Given the description of an element on the screen output the (x, y) to click on. 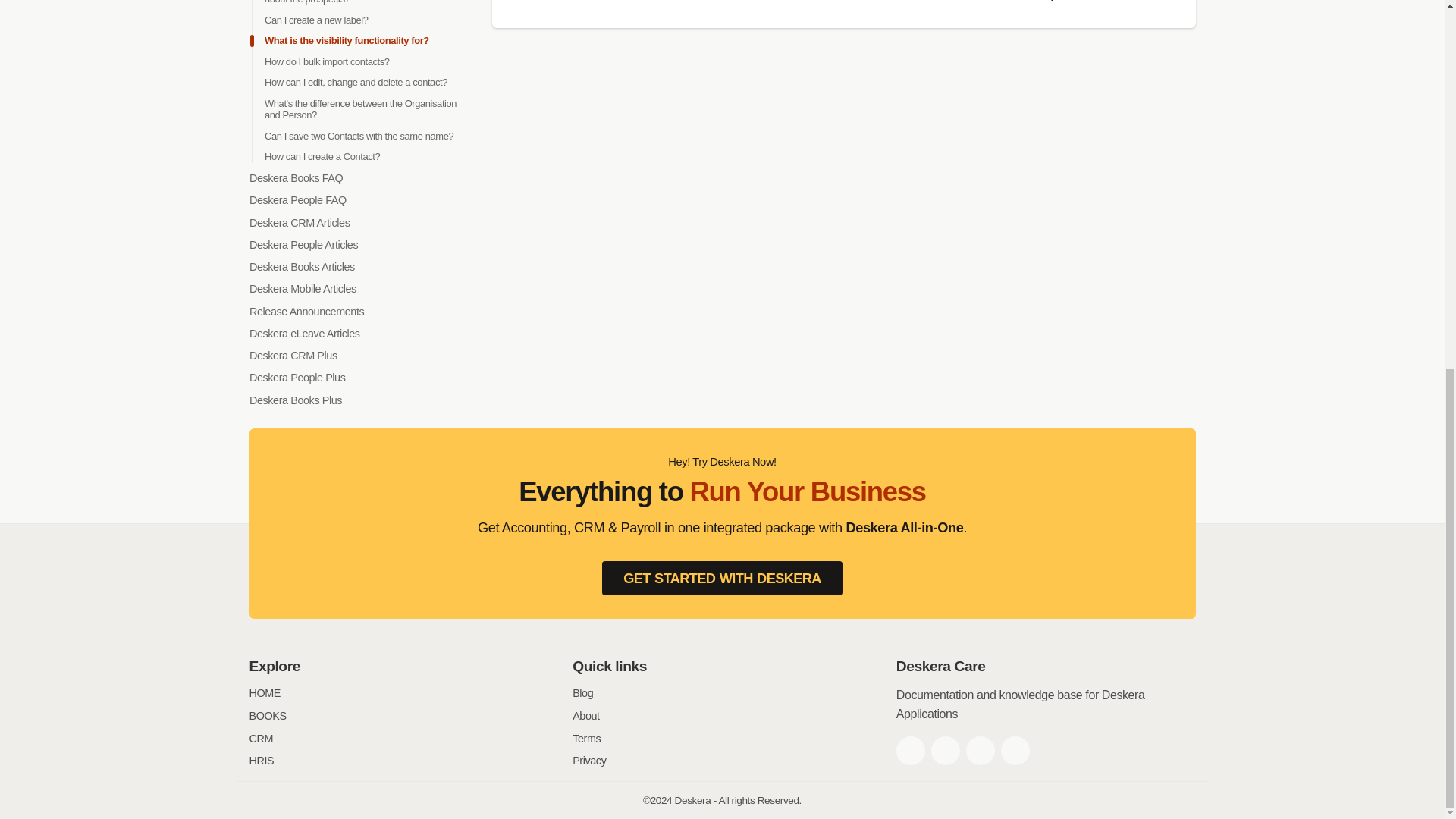
Deskera Linkedin (980, 750)
Can I save two Contacts with the same name? (357, 135)
Facebook (910, 750)
What's the difference between the Organisation and Person? (359, 109)
How can I edit, change and delete a contact? (354, 81)
Can I create a new label? (315, 19)
Twitter (945, 750)
How do I bulk import contacts? (325, 61)
What is the visibility functionality for? (345, 40)
Deskera YouTube (1015, 750)
